Given the description of an element on the screen output the (x, y) to click on. 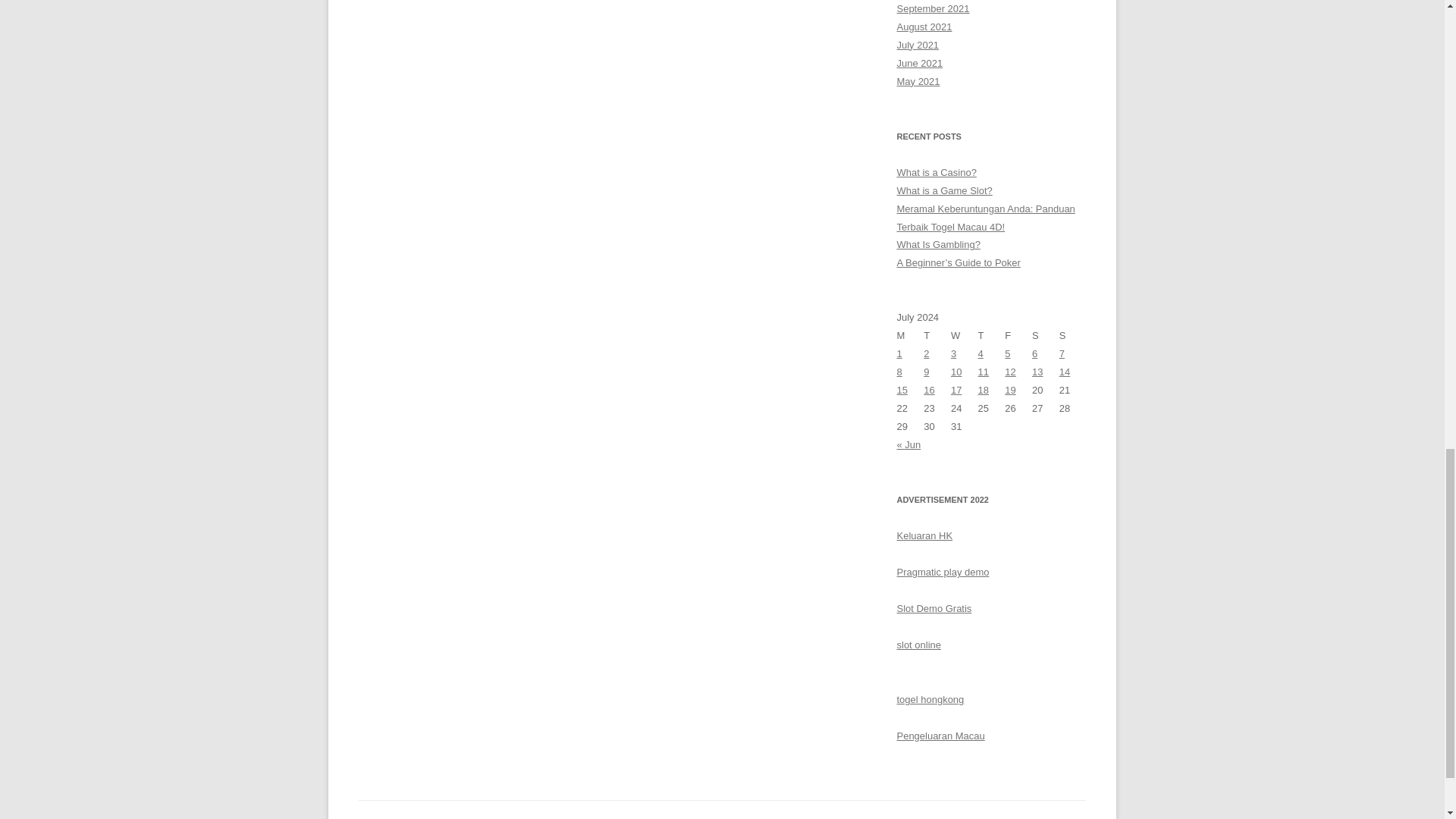
Saturday (1045, 335)
Monday (909, 335)
Thursday (992, 335)
Friday (1018, 335)
Wednesday (964, 335)
Tuesday (936, 335)
Sunday (1072, 335)
